Given the description of an element on the screen output the (x, y) to click on. 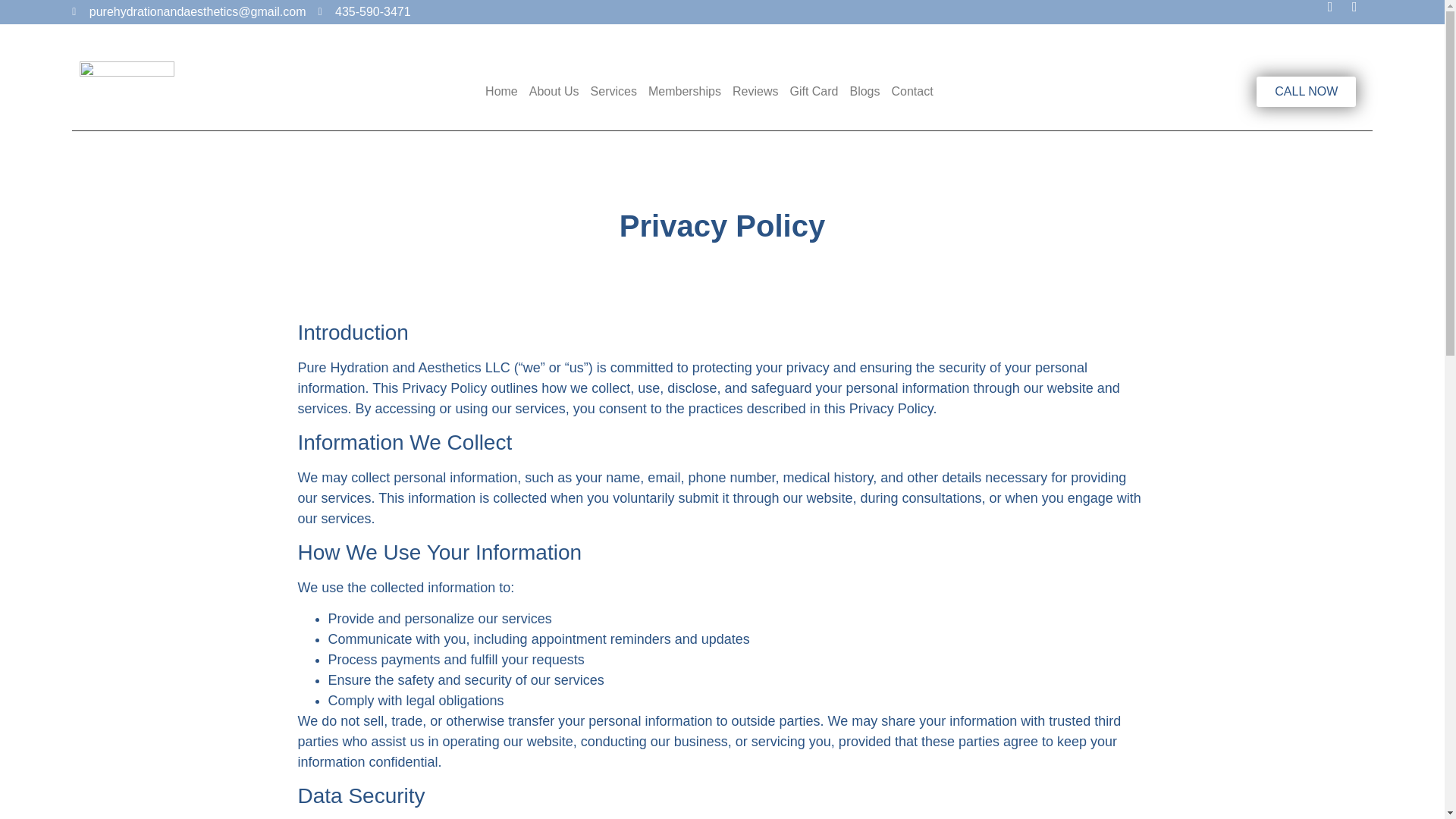
435-590-3471 (363, 12)
